Given the description of an element on the screen output the (x, y) to click on. 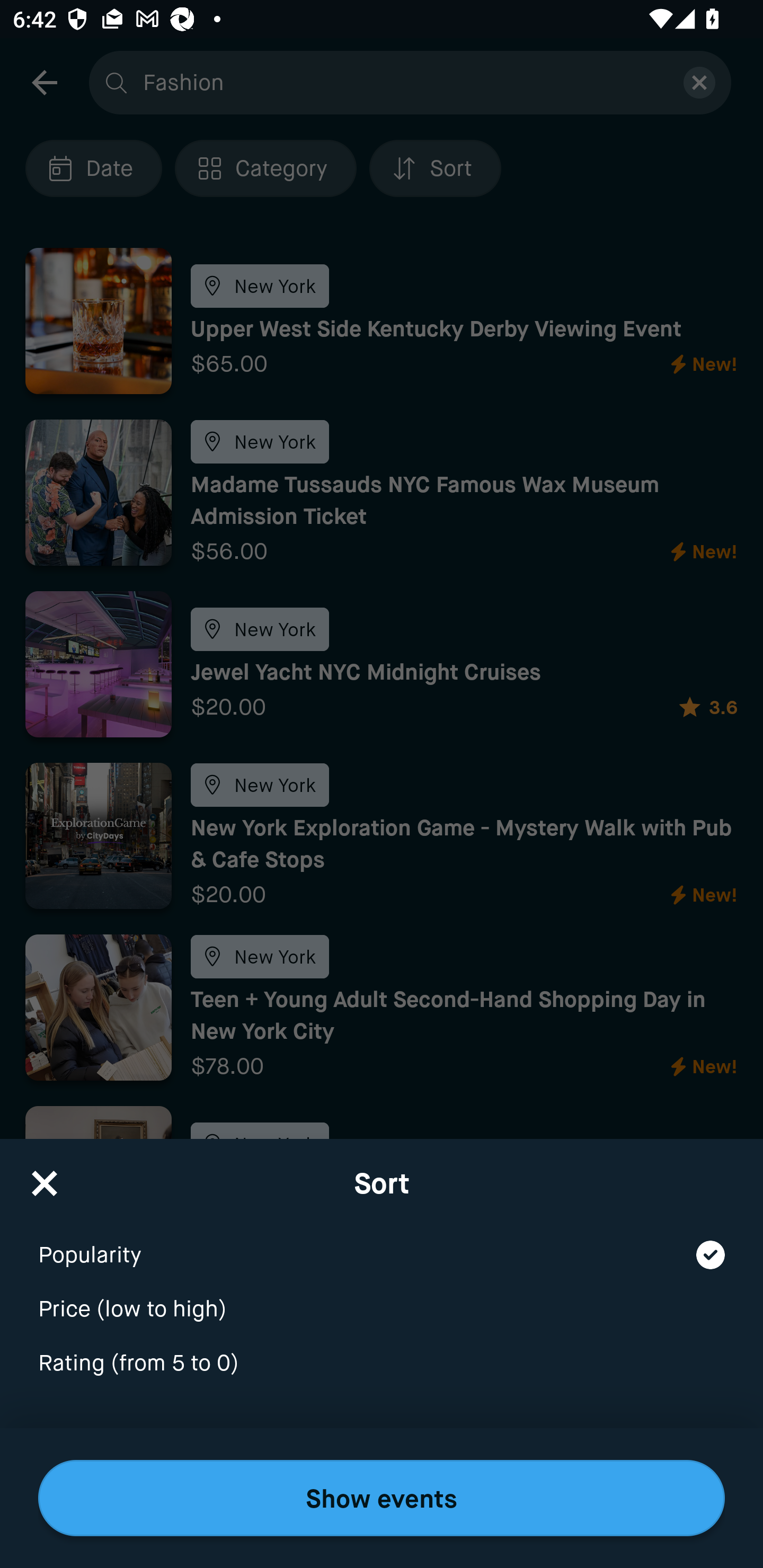
CloseButton (44, 1177)
Popularity Selected Icon (381, 1243)
Price (low to high) (381, 1297)
Rating (from 5 to 0) (381, 1362)
Show events (381, 1497)
